Given the description of an element on the screen output the (x, y) to click on. 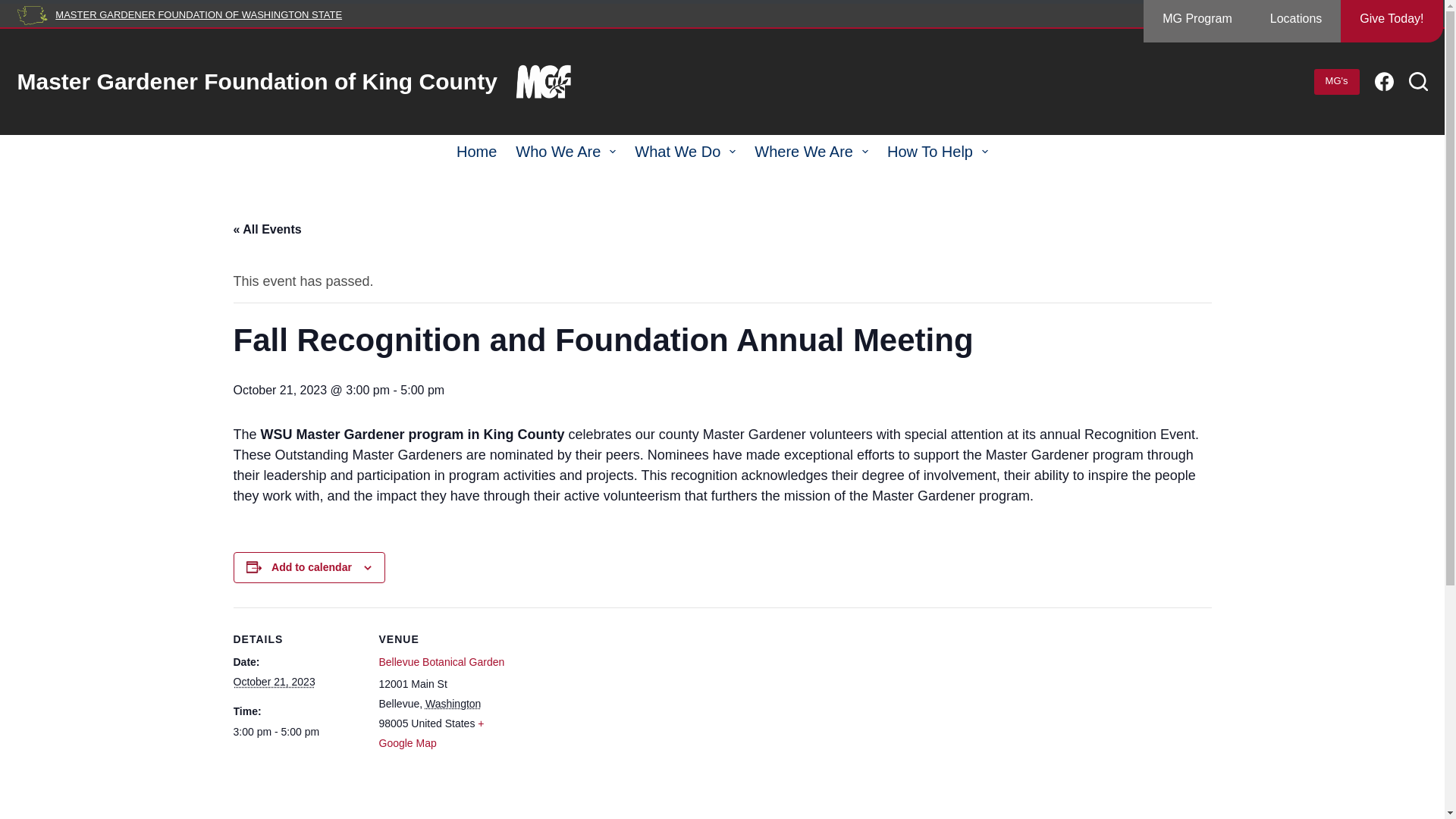
MG's (1336, 81)
MG Program (1196, 21)
Washington (452, 703)
Skip to content (15, 7)
Click to view a Google Map (431, 733)
Master Gardener Foundation of King County (256, 81)
Locations (1295, 21)
MASTER GARDENER FOUNDATION OF WASHINGTON STATE (198, 14)
Give Today! (1391, 21)
2023-10-21 (273, 681)
